Given the description of an element on the screen output the (x, y) to click on. 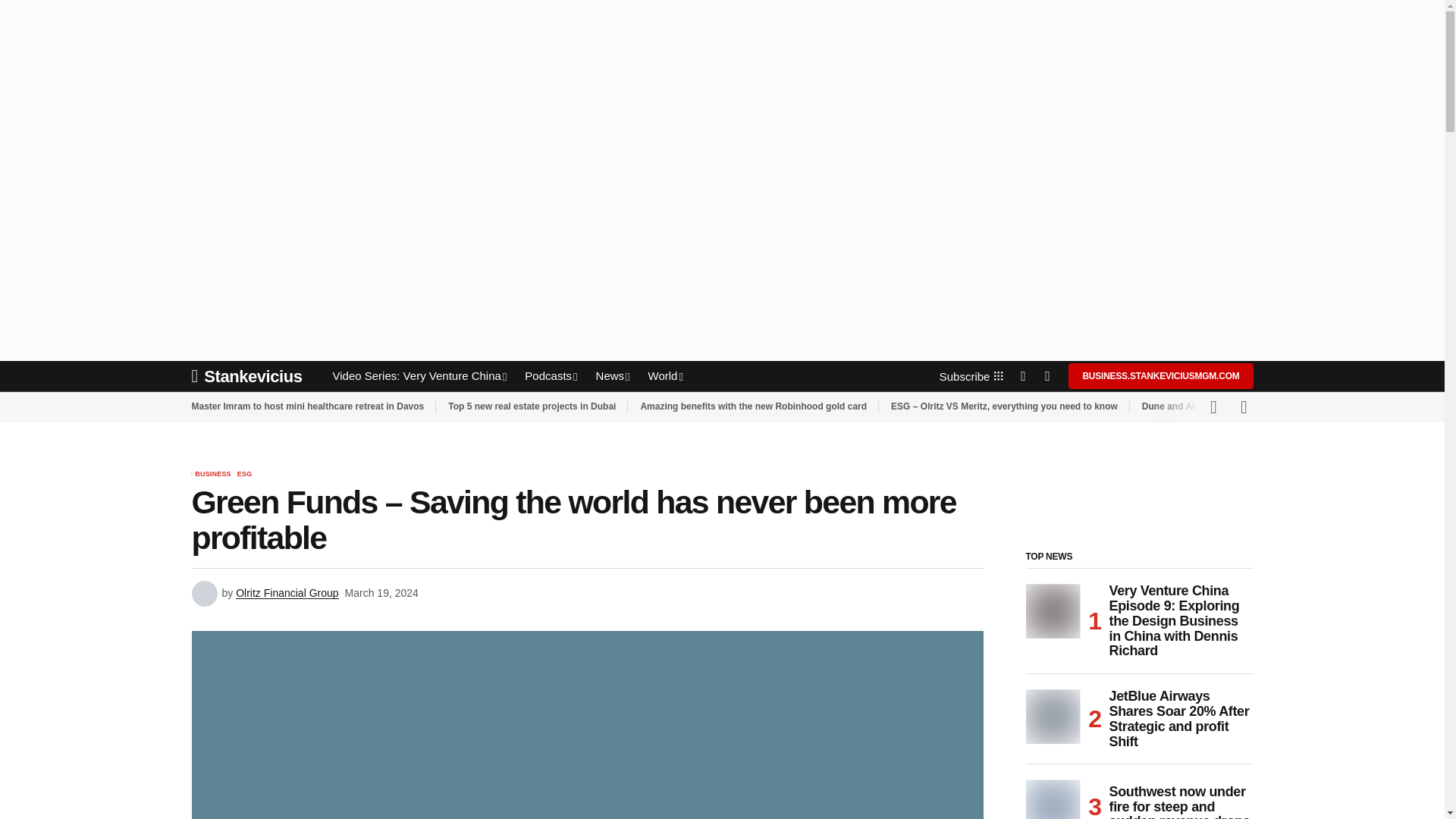
Video Series: Very Venture China (419, 376)
Stankevicius (252, 376)
